Given the description of an element on the screen output the (x, y) to click on. 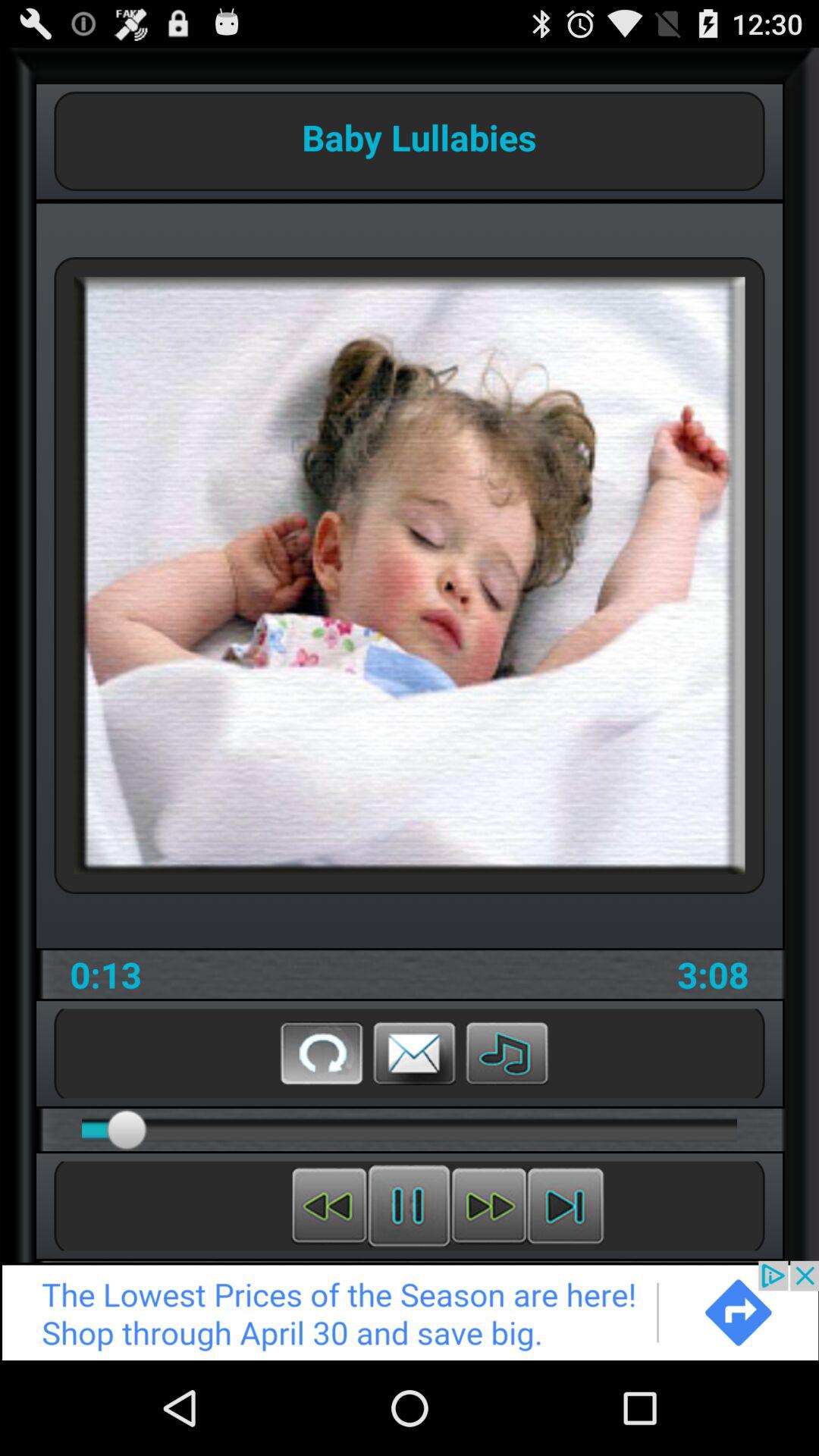
play next song (565, 1205)
